Given the description of an element on the screen output the (x, y) to click on. 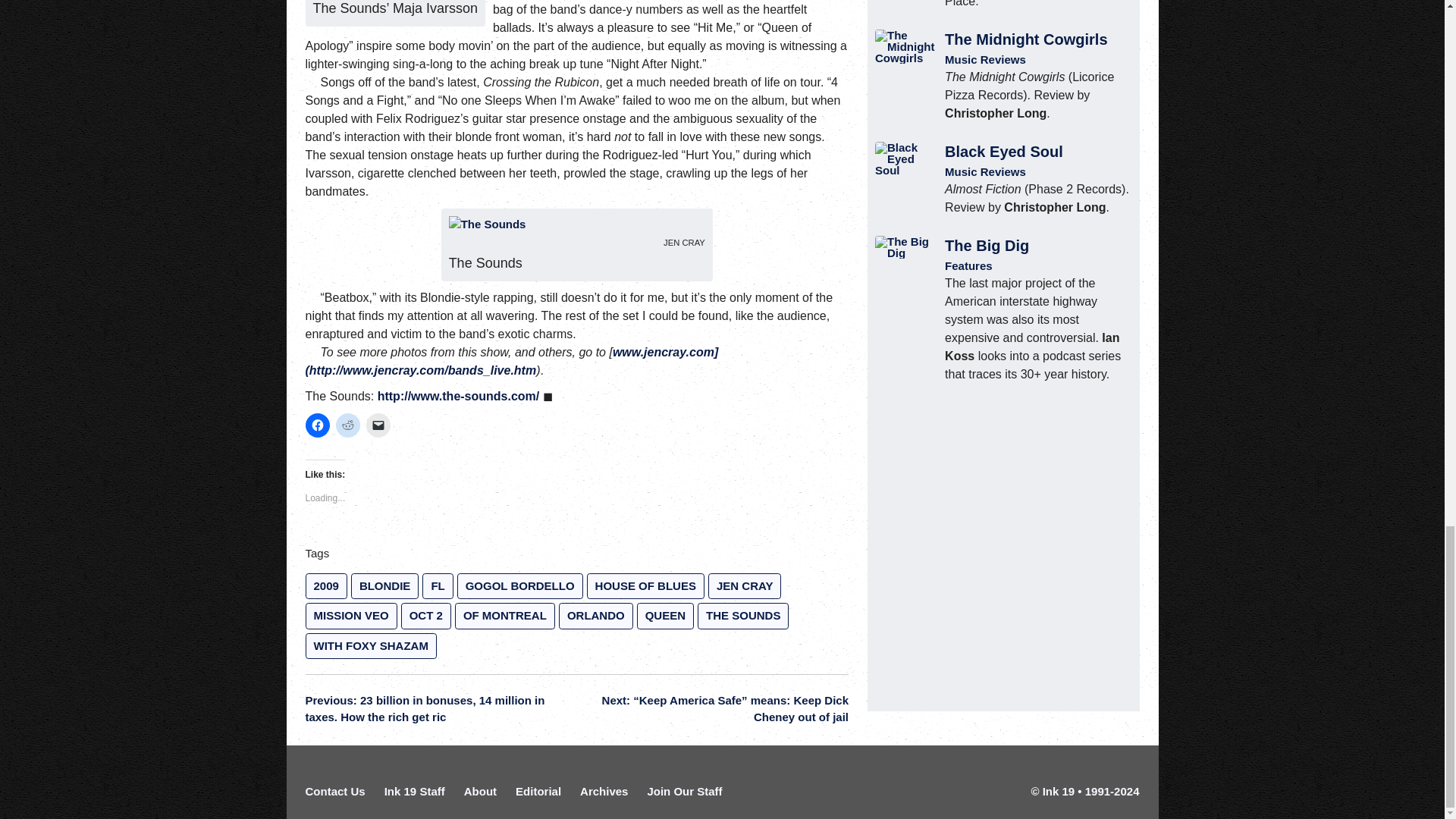
Click to email a link to a friend (377, 425)
Click to share on Reddit (346, 425)
The Sounds (486, 224)
Click to share on Facebook (316, 425)
